Given the description of an element on the screen output the (x, y) to click on. 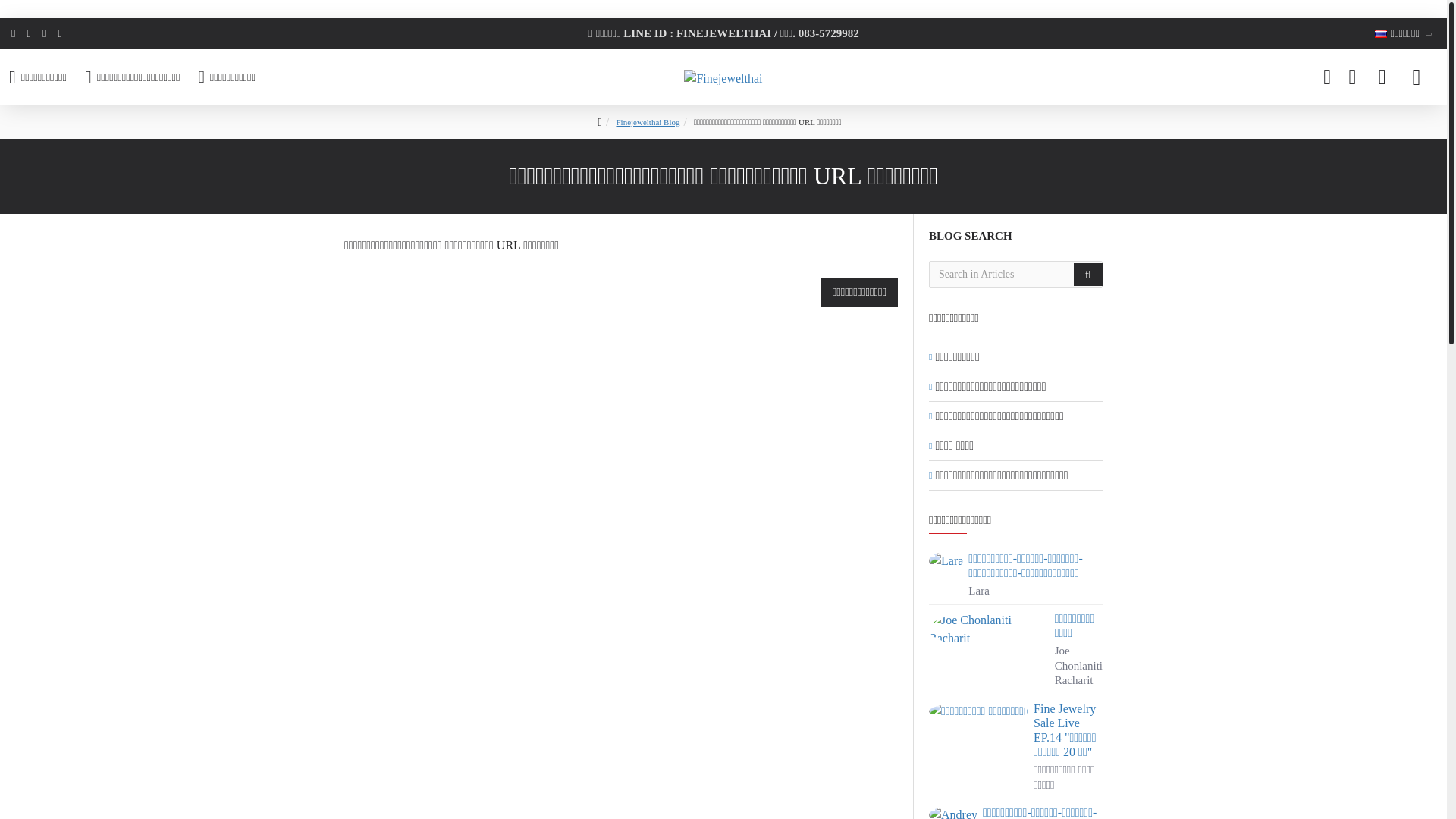
Finejewelthai (722, 77)
